Given the description of an element on the screen output the (x, y) to click on. 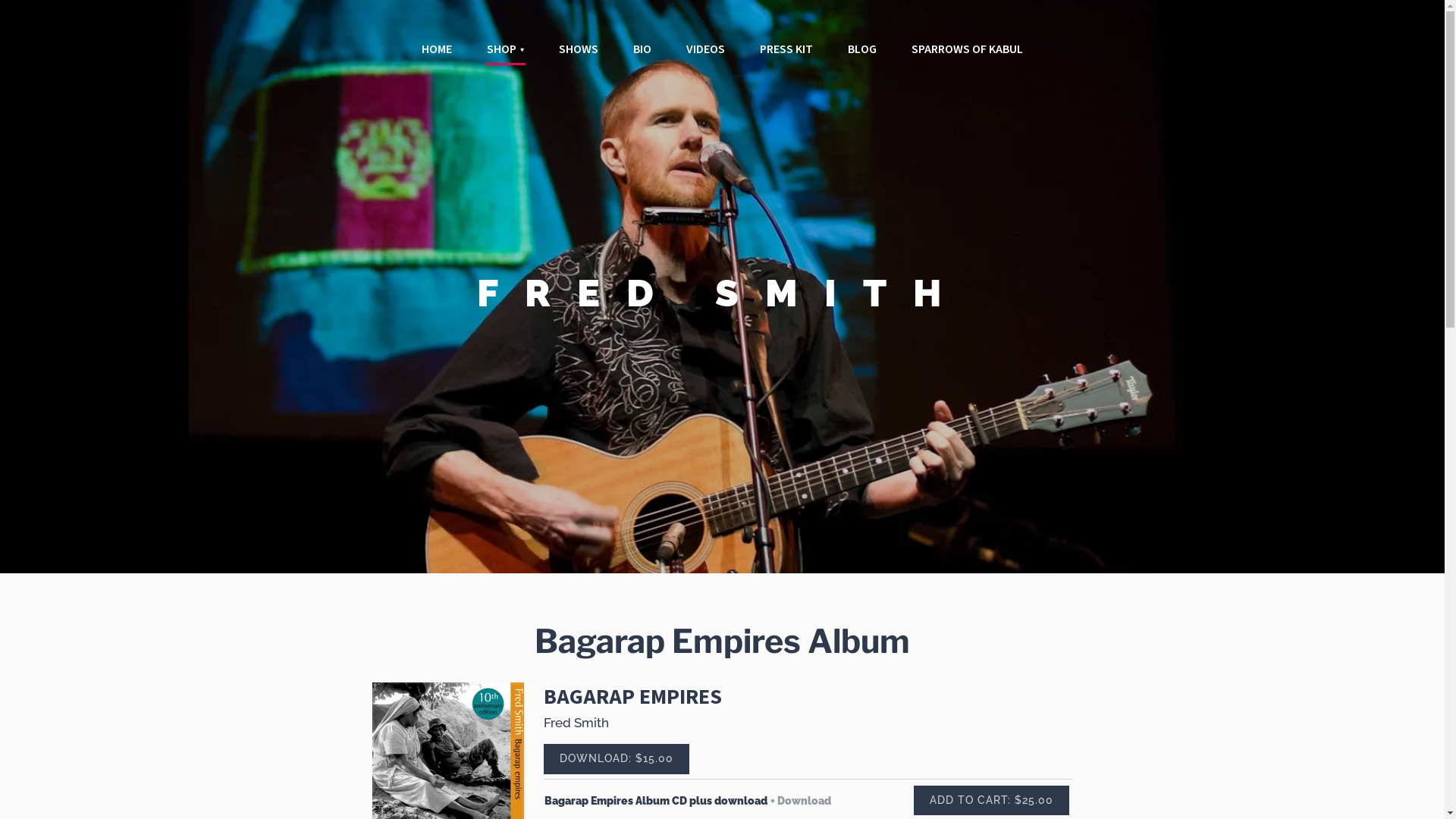
VIDEOS Element type: text (705, 49)
BLOG Element type: text (862, 49)
ADD TO CART: $25.00 Element type: text (991, 800)
HOME Element type: text (436, 49)
SHOP Element type: text (505, 50)
PRESS KIT Element type: text (786, 49)
SPARROWS OF KABUL Element type: text (967, 49)
BIO Element type: text (641, 49)
DOWNLOAD: $15.00 Element type: text (616, 758)
FRED SMITH Element type: text (721, 298)
SHOWS Element type: text (578, 49)
